Given the description of an element on the screen output the (x, y) to click on. 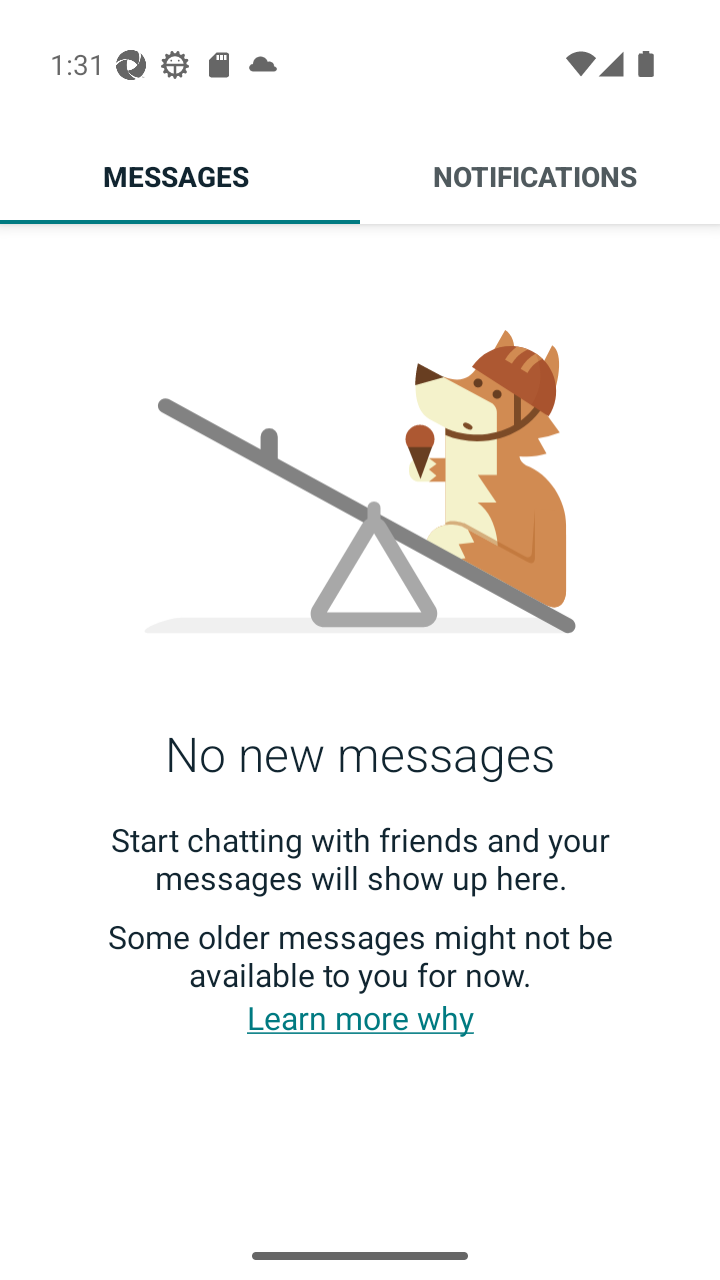
Notifications NOTIFICATIONS (540, 176)
